Given the description of an element on the screen output the (x, y) to click on. 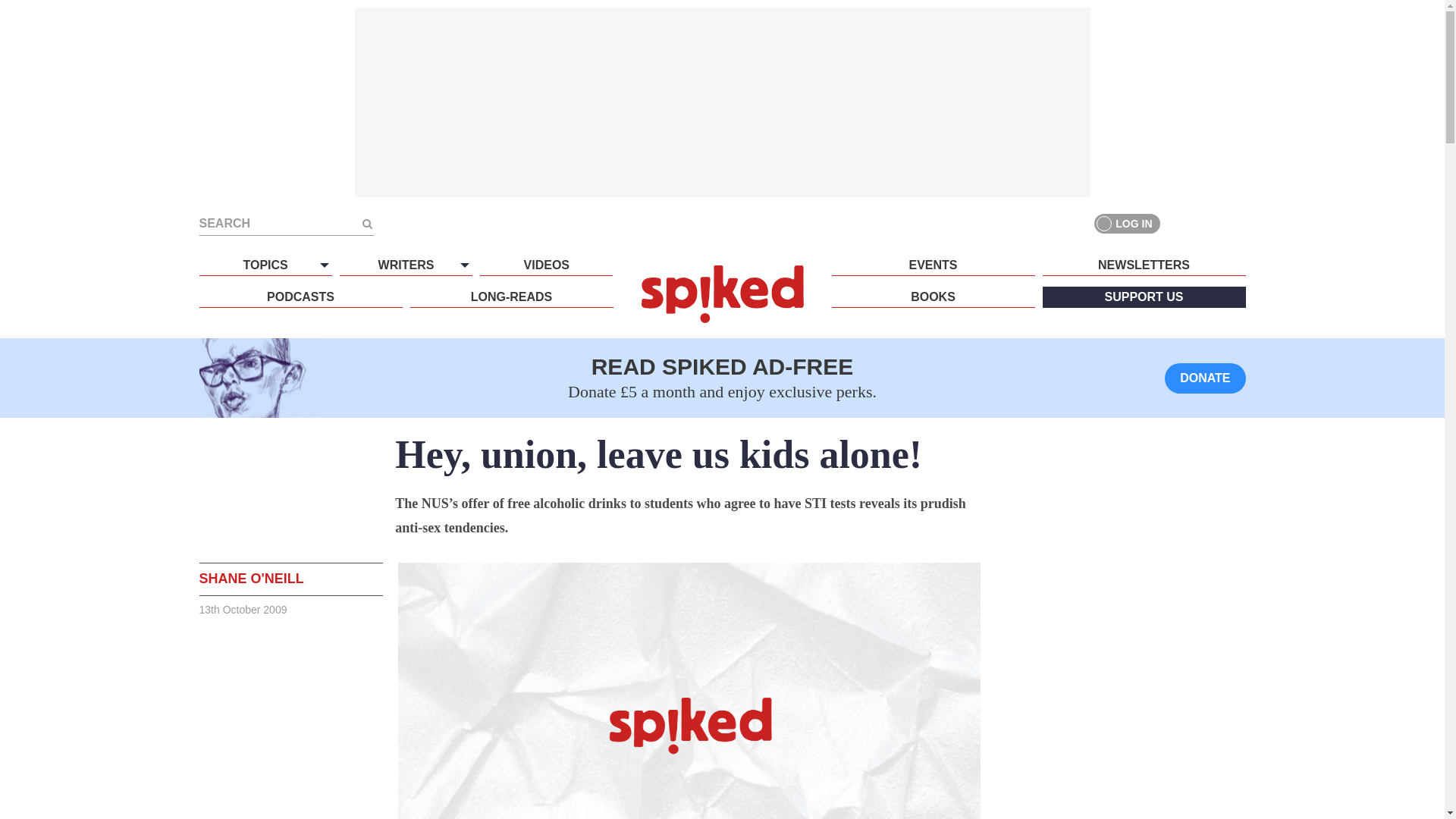
LOG IN (1126, 223)
EVENTS (932, 265)
PODCASTS (299, 296)
BOOKS (932, 296)
WRITERS (405, 265)
SUPPORT US (1143, 296)
NEWSLETTERS (1143, 265)
Facebook (1180, 223)
YouTube (1234, 223)
spiked - humanity is underrated (722, 293)
VIDEOS (546, 265)
TOPICS (264, 265)
LONG-READS (510, 296)
Twitter (1207, 223)
